Given the description of an element on the screen output the (x, y) to click on. 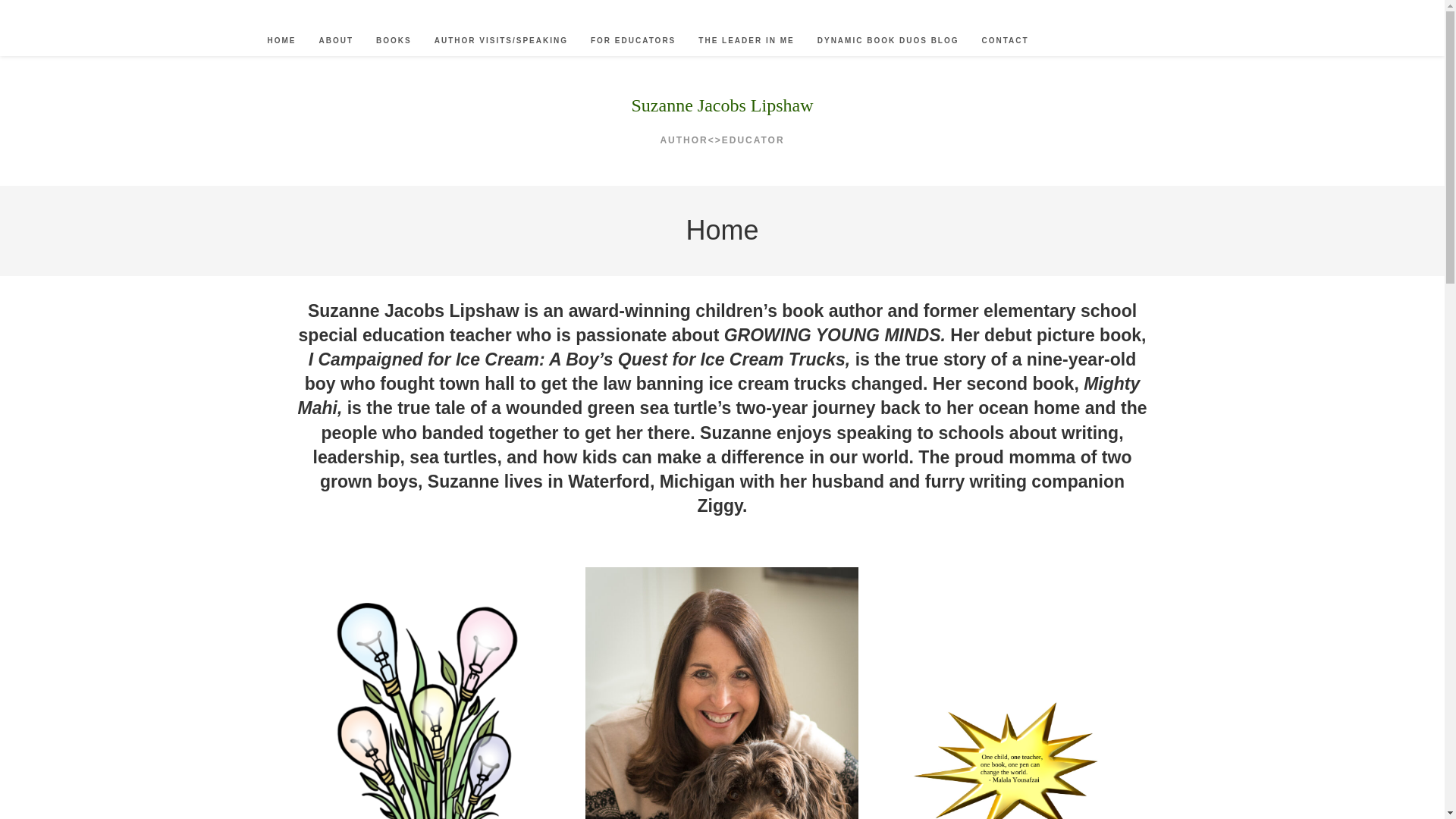
THE LEADER IN ME (746, 40)
HOME (281, 40)
BOOKS (394, 40)
DYNAMIC BOOK DUOS BLOG (888, 40)
FOR EDUCATORS (633, 40)
Suzanne Jacobs Lipshaw (722, 105)
ABOUT (336, 40)
CONTACT (1006, 40)
